Given the description of an element on the screen output the (x, y) to click on. 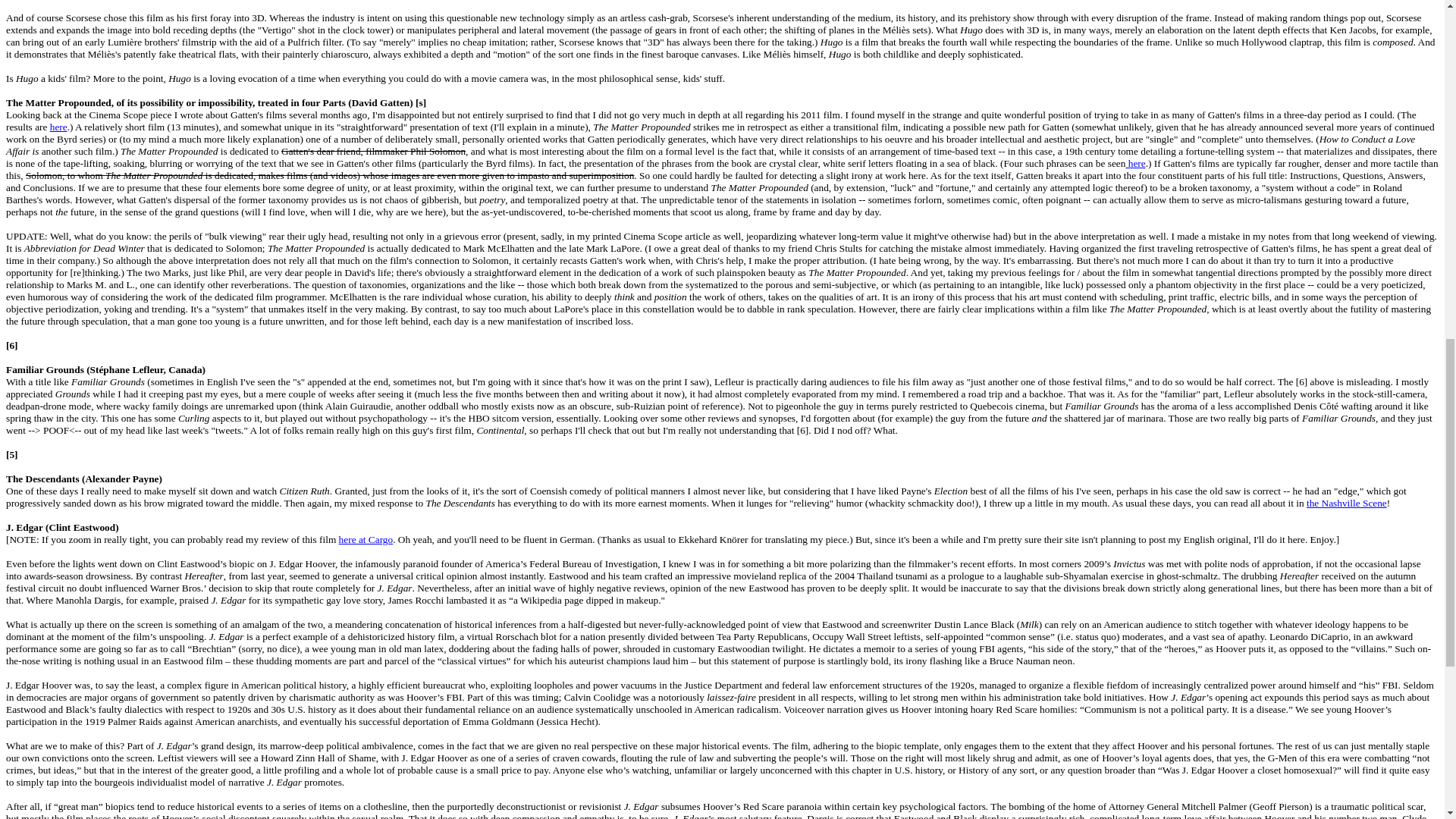
here (1134, 163)
here at Cargo (366, 539)
the Nashville Scene (1346, 502)
here (57, 126)
